Given the description of an element on the screen output the (x, y) to click on. 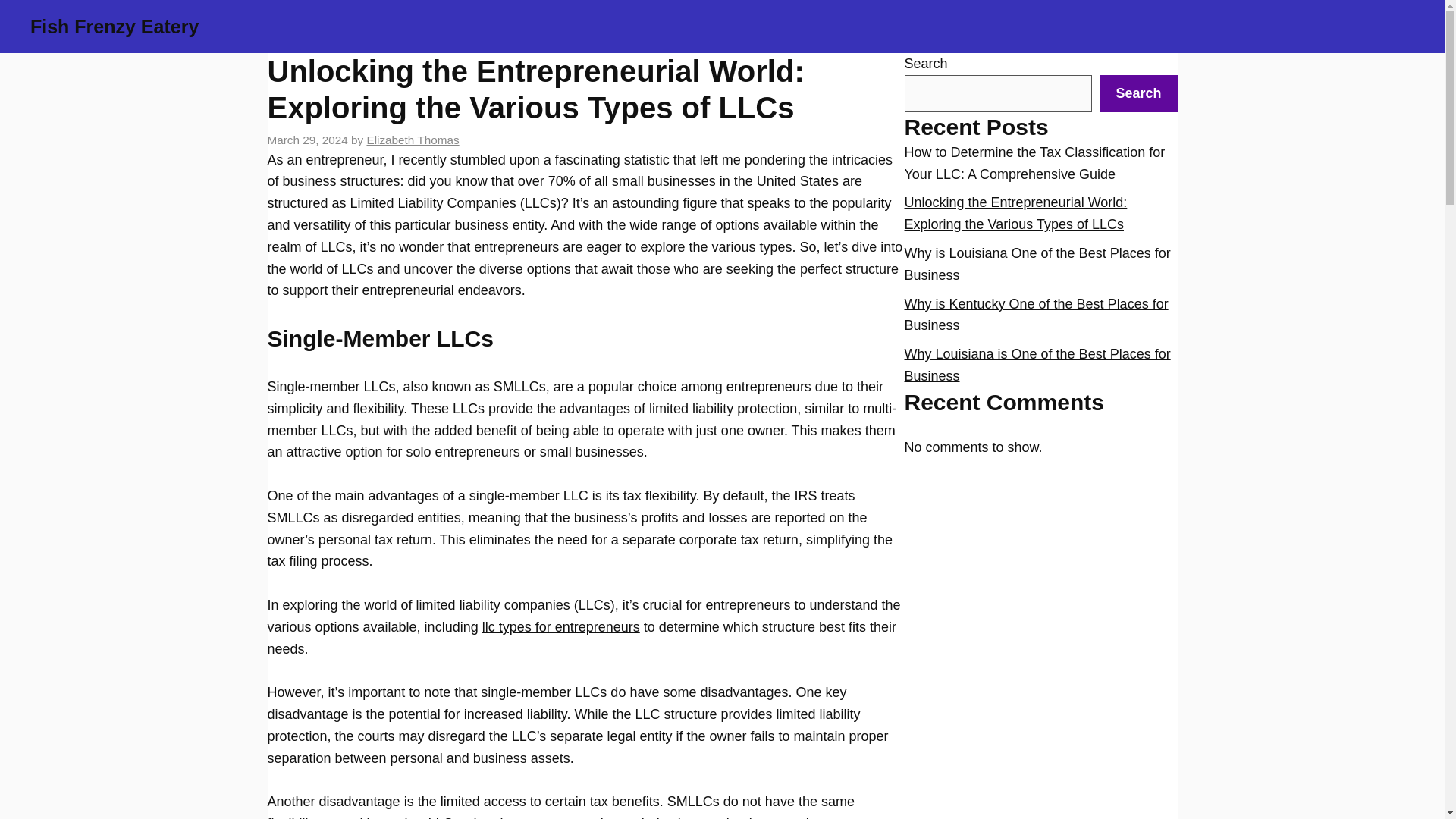
Fish Frenzy Eatery (114, 25)
Why Louisiana is One of the Best Places for Business (1037, 365)
Search (1137, 93)
Elizabeth Thomas (412, 139)
Why is Kentucky One of the Best Places for Business (1035, 314)
llc types for entrepreneurs (560, 626)
Why is Louisiana One of the Best Places for Business (1037, 263)
View all posts by Elizabeth Thomas (412, 139)
